Given the description of an element on the screen output the (x, y) to click on. 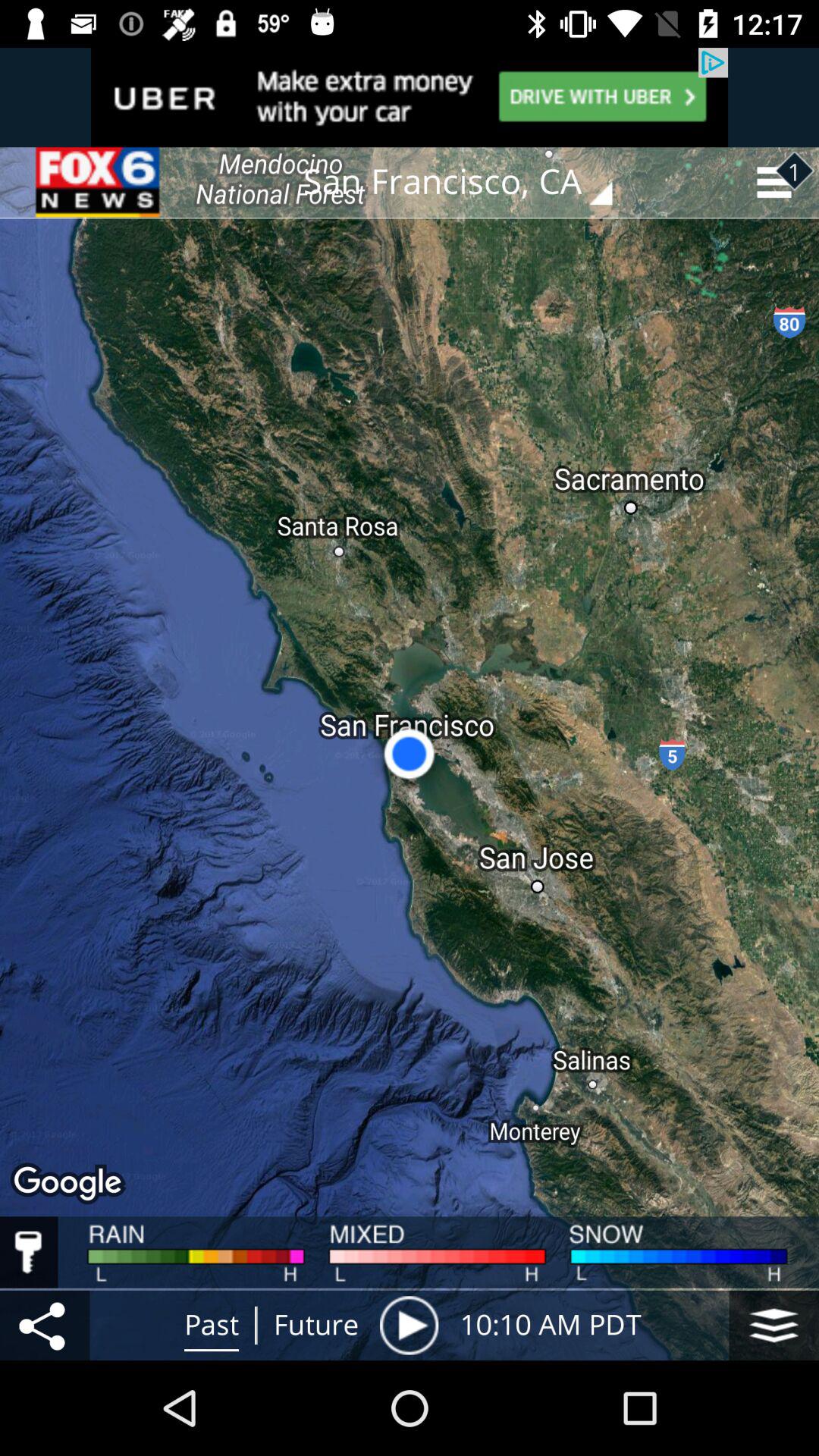
tap the item next to 10 10 am item (774, 1325)
